Given the description of an element on the screen output the (x, y) to click on. 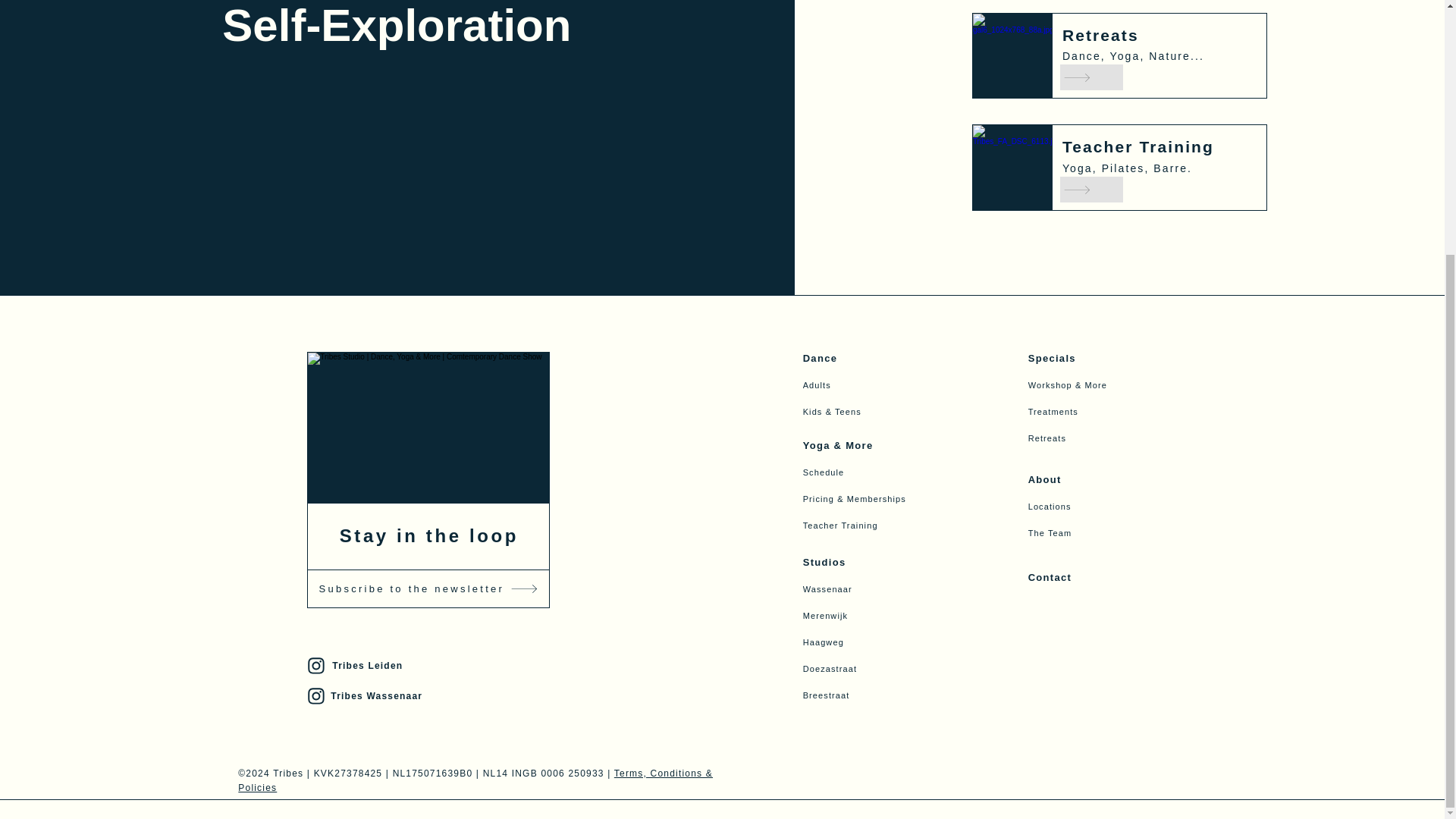
Subscribe to the newsletter (428, 588)
Tribes Leiden (426, 665)
Tribes Wassenaar (426, 696)
